Given the description of an element on the screen output the (x, y) to click on. 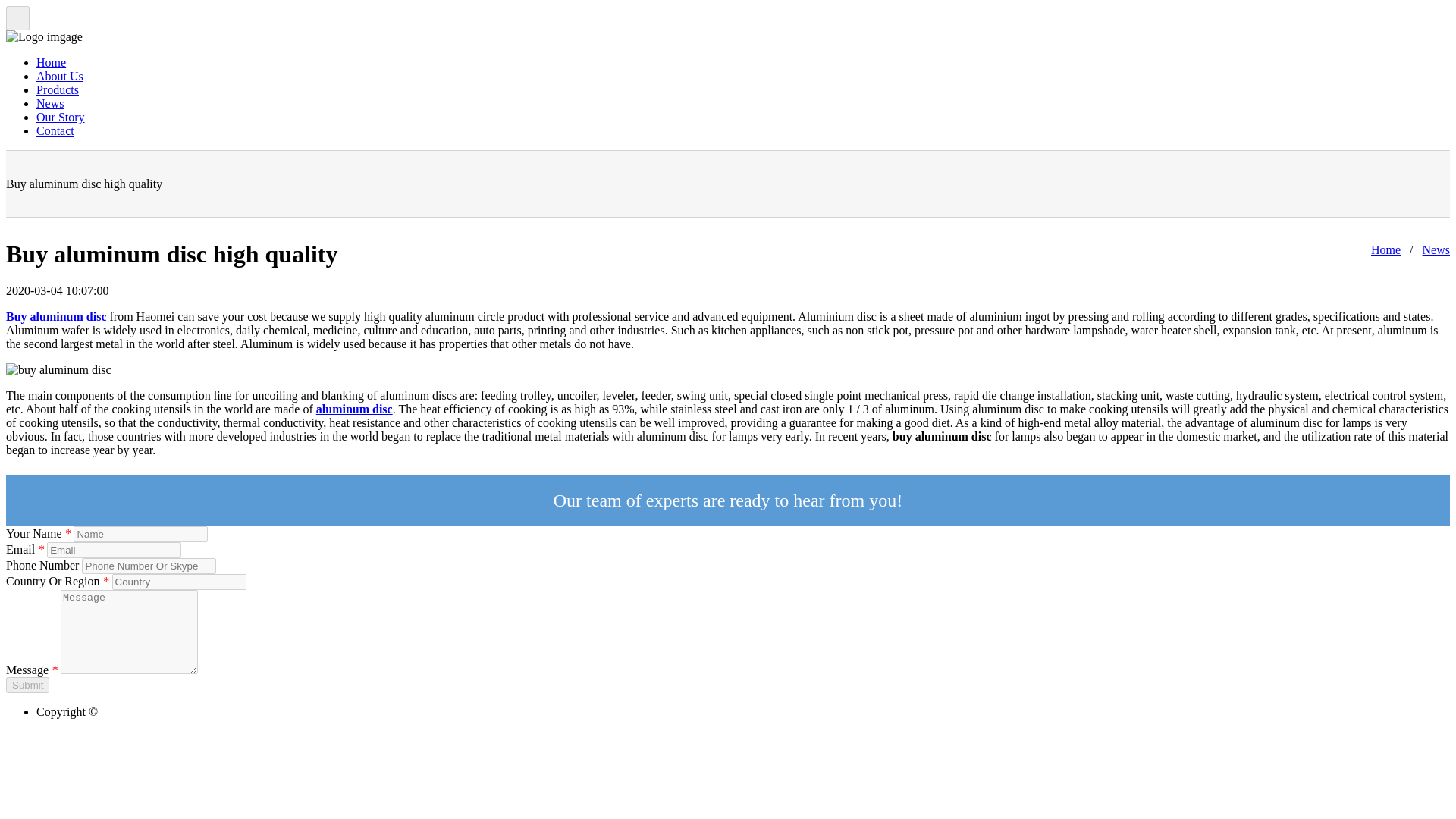
Products (57, 89)
News (50, 103)
Our Story (60, 116)
Submit (27, 684)
Home (50, 62)
aluminum disc (354, 408)
Buy aluminum disc (55, 316)
Home (1385, 249)
About Us (59, 75)
Contact (55, 130)
